Given the description of an element on the screen output the (x, y) to click on. 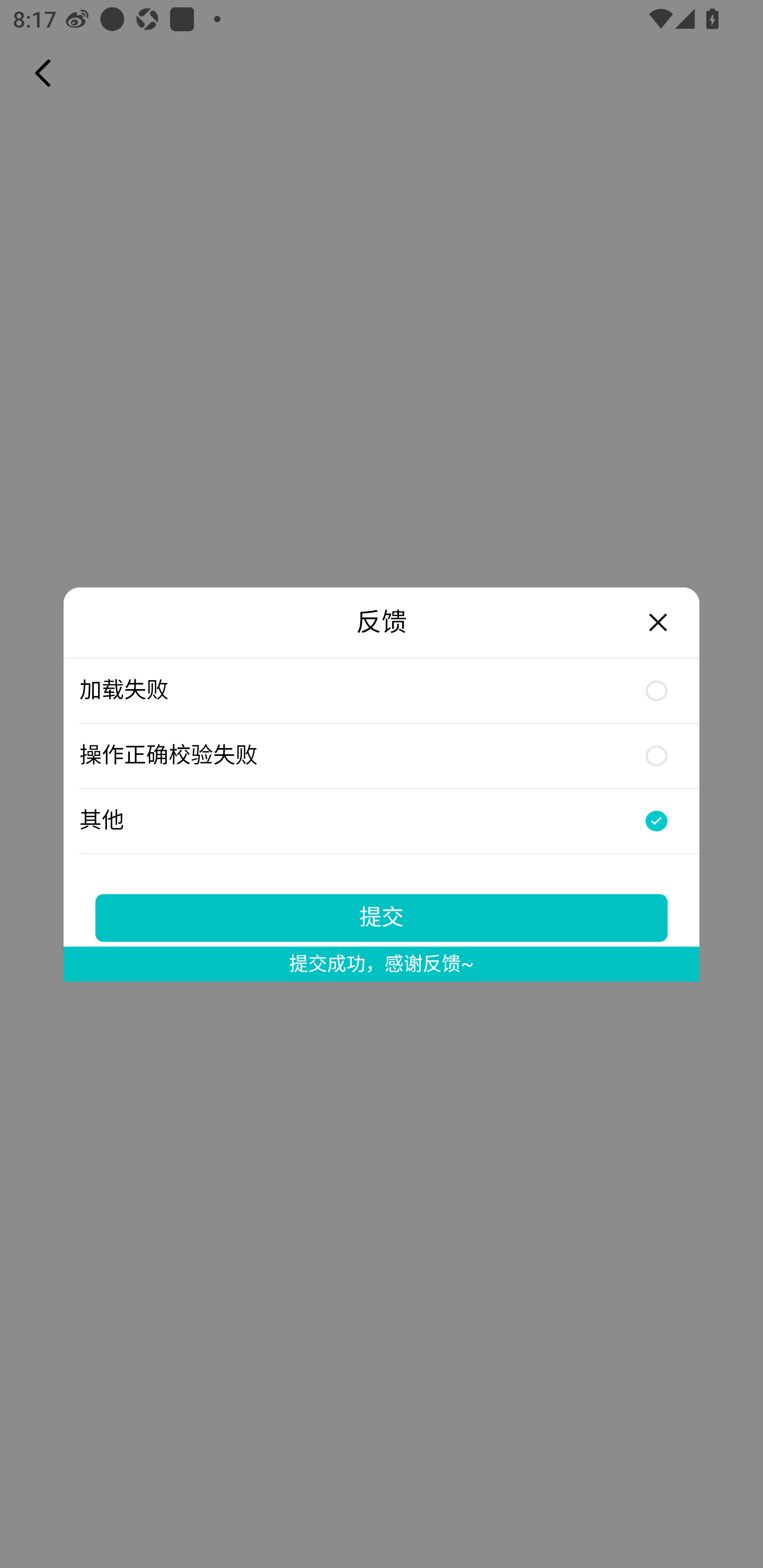
提交 (381, 917)
